Given the description of an element on the screen output the (x, y) to click on. 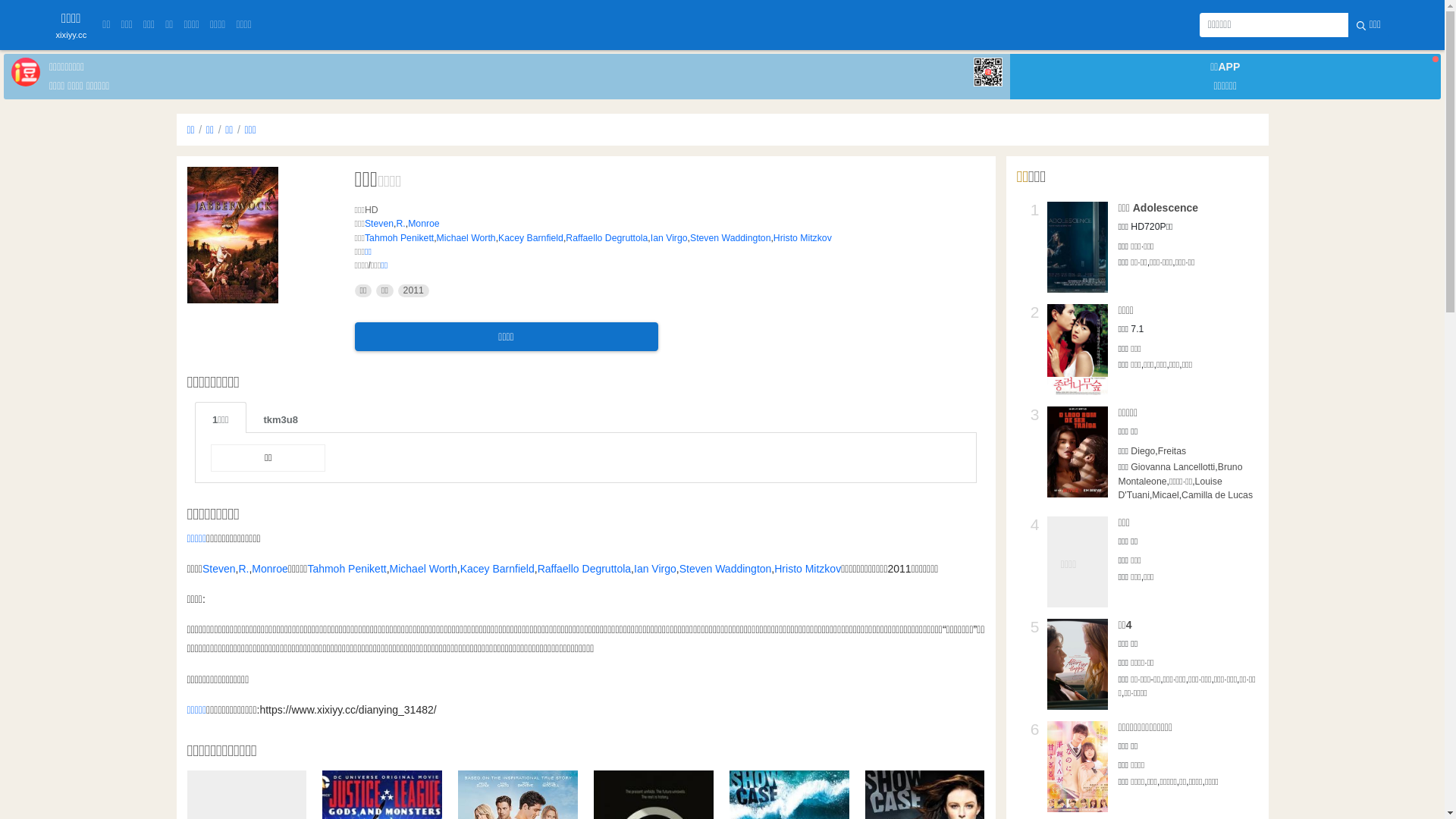
Tahmoh Penikett Element type: text (398, 237)
Steven Element type: text (218, 568)
Hristo Mitzkov Element type: text (802, 237)
Monroe Element type: text (423, 223)
Steven Waddington Element type: text (730, 237)
Giovanna Lancellotti Element type: text (1172, 466)
Michael Worth Element type: text (423, 568)
R. Element type: text (243, 568)
tkm3u8 Element type: text (280, 417)
Monroe Element type: text (269, 568)
R. Element type: text (399, 223)
Kacey Barnfield Element type: text (530, 237)
Kacey Barnfield Element type: text (497, 568)
Diego Element type: text (1142, 450)
Tahmoh Penikett Element type: text (346, 568)
Raffaello Degruttola Element type: text (583, 568)
2011 Element type: text (413, 290)
Louise D'Tuani Element type: text (1169, 488)
Freitas Element type: text (1171, 450)
Steven Element type: text (378, 223)
Ian Virgo Element type: text (654, 568)
Steven Waddington Element type: text (725, 568)
Micael Element type: text (1164, 494)
Hristo Mitzkov Element type: text (807, 568)
Raffaello Degruttola Element type: text (606, 237)
Camilla de Lucas Element type: text (1216, 494)
Bruno Montaleone Element type: text (1179, 473)
Ian Virgo Element type: text (668, 237)
Michael Worth Element type: text (465, 237)
